Given the description of an element on the screen output the (x, y) to click on. 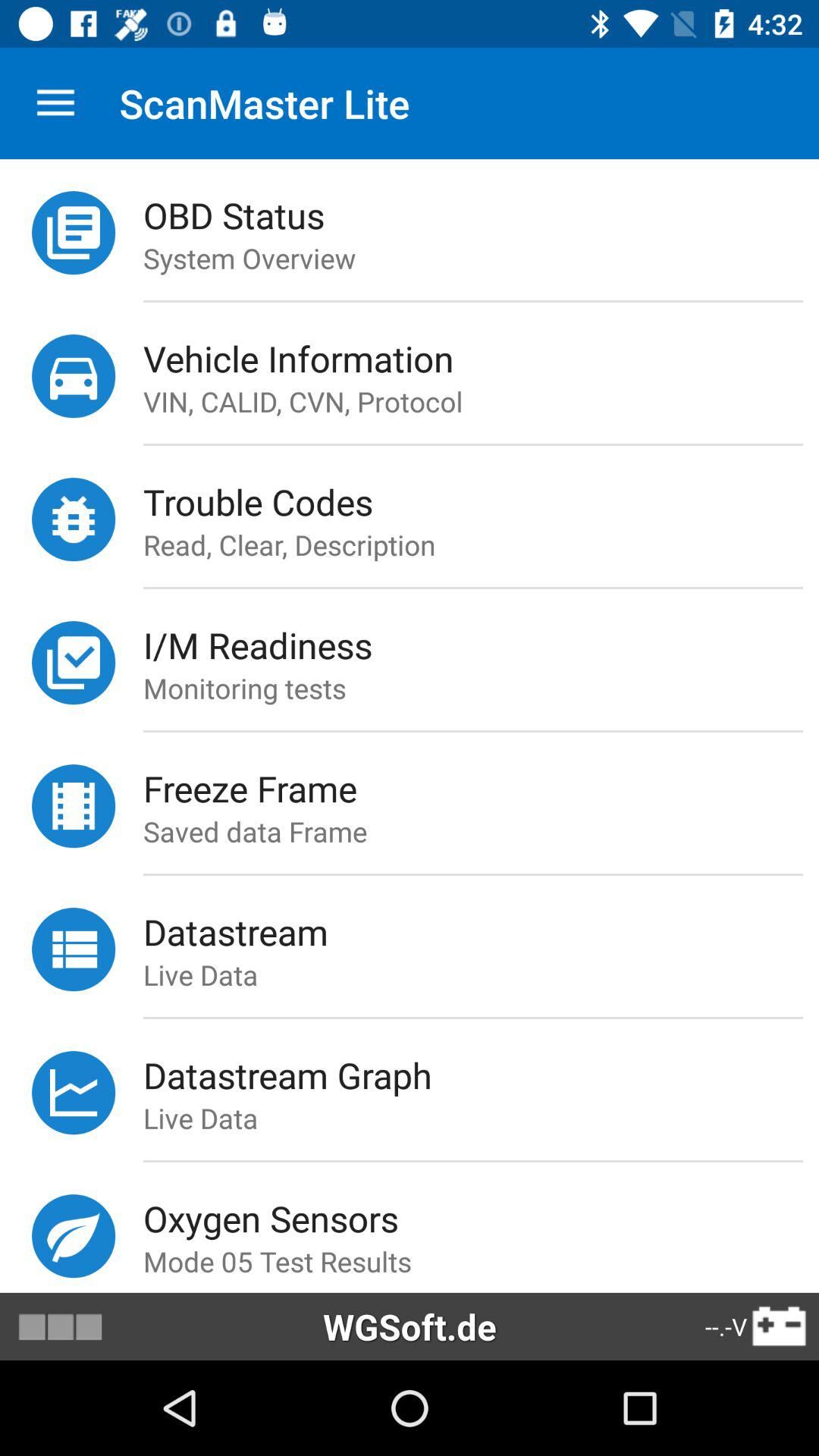
select vehicle information item (481, 358)
